Given the description of an element on the screen output the (x, y) to click on. 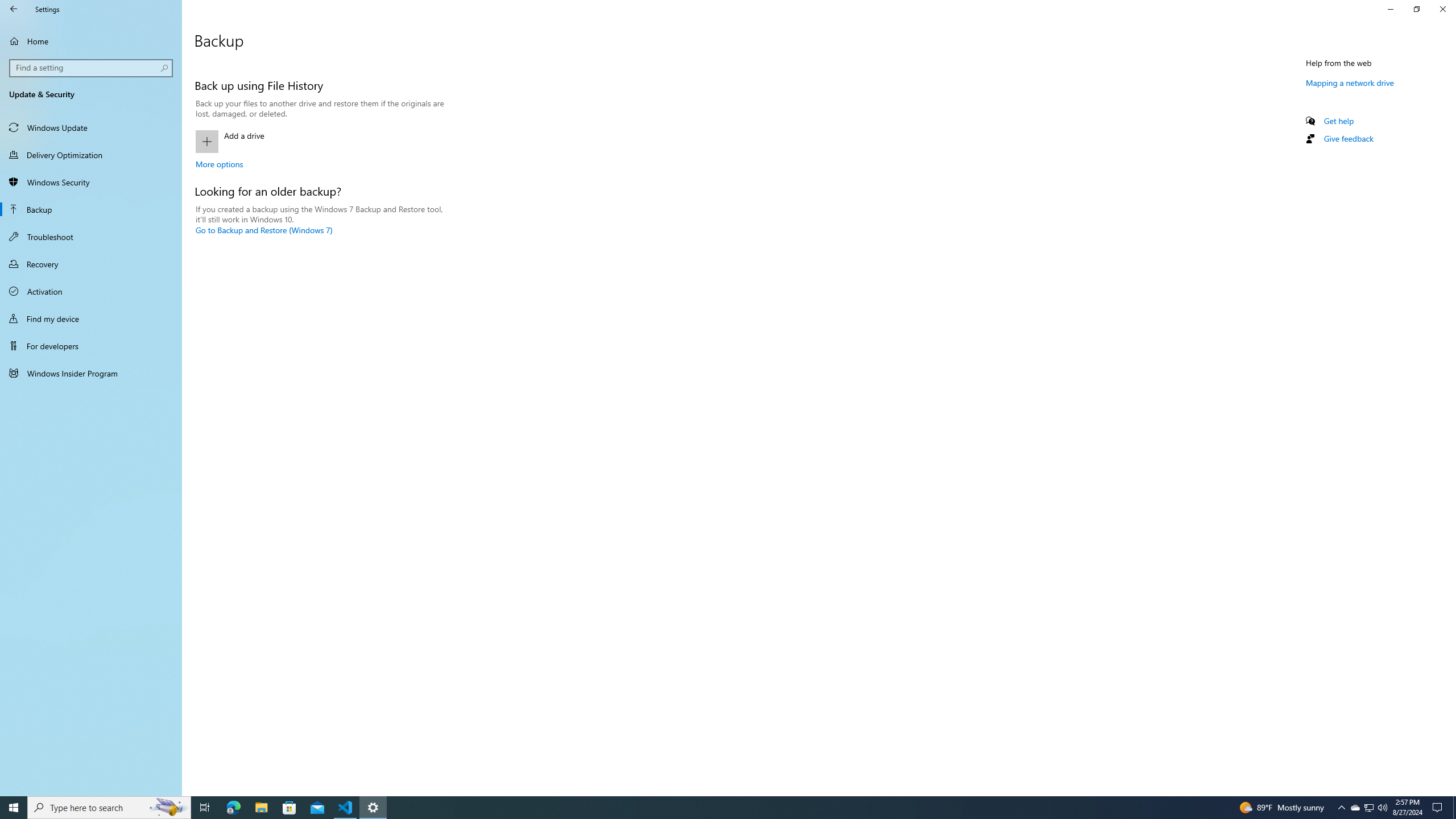
Troubleshoot (91, 236)
Add a drive (319, 141)
Windows Insider Program (91, 372)
